Given the description of an element on the screen output the (x, y) to click on. 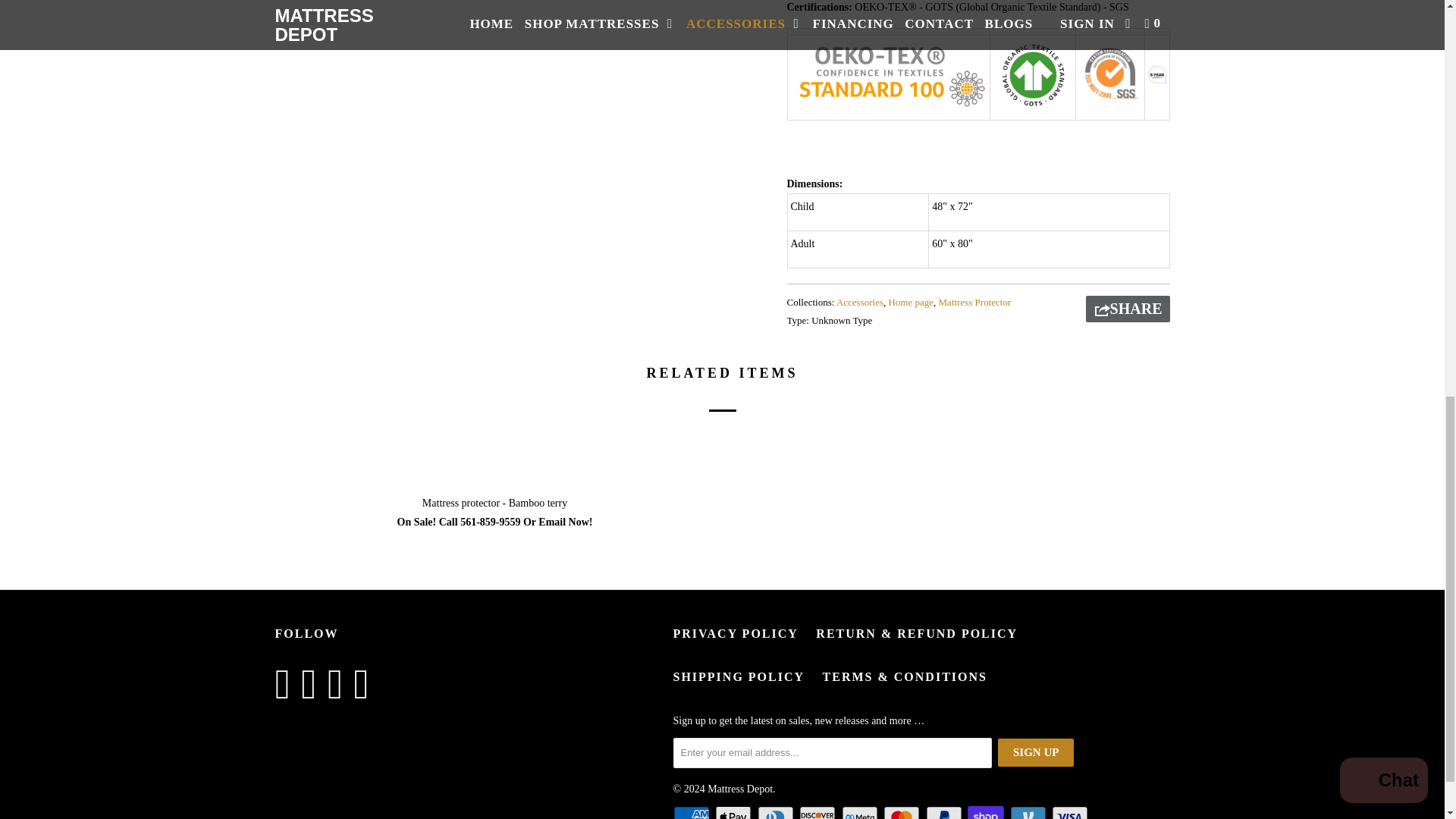
Accessories (859, 301)
Mattress Protector (975, 301)
Sign Up (1035, 752)
Home page (910, 301)
